Given the description of an element on the screen output the (x, y) to click on. 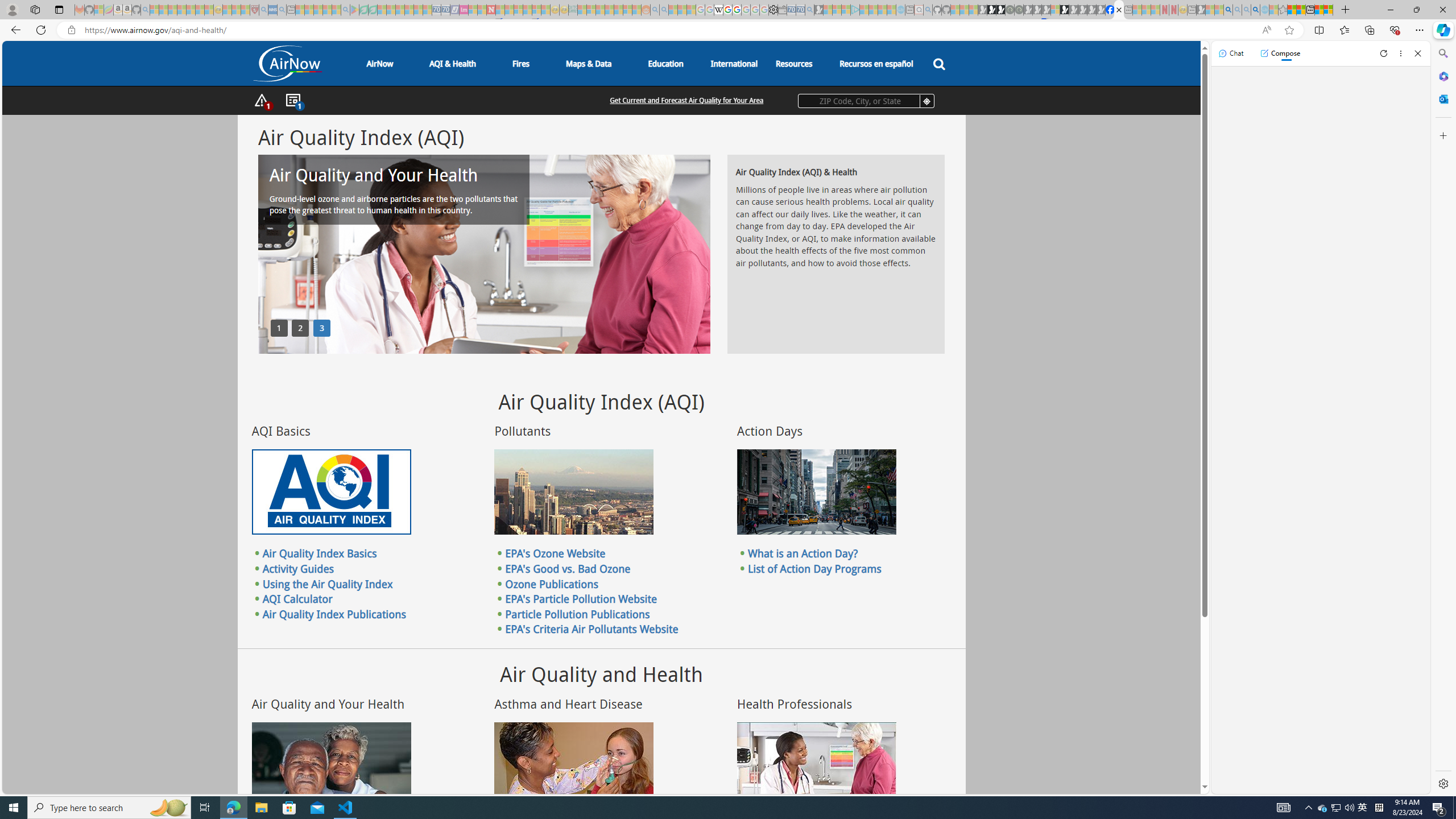
Get Current and Forecast Air Quality for Your Area (687, 99)
Asthma and Heart Disease (573, 764)
City traffic (816, 491)
Bluey: Let's Play! - Apps on Google Play - Sleeping (354, 9)
AQI & Health | AirNow.gov (1118, 9)
Activity Guides (298, 568)
